Given the description of an element on the screen output the (x, y) to click on. 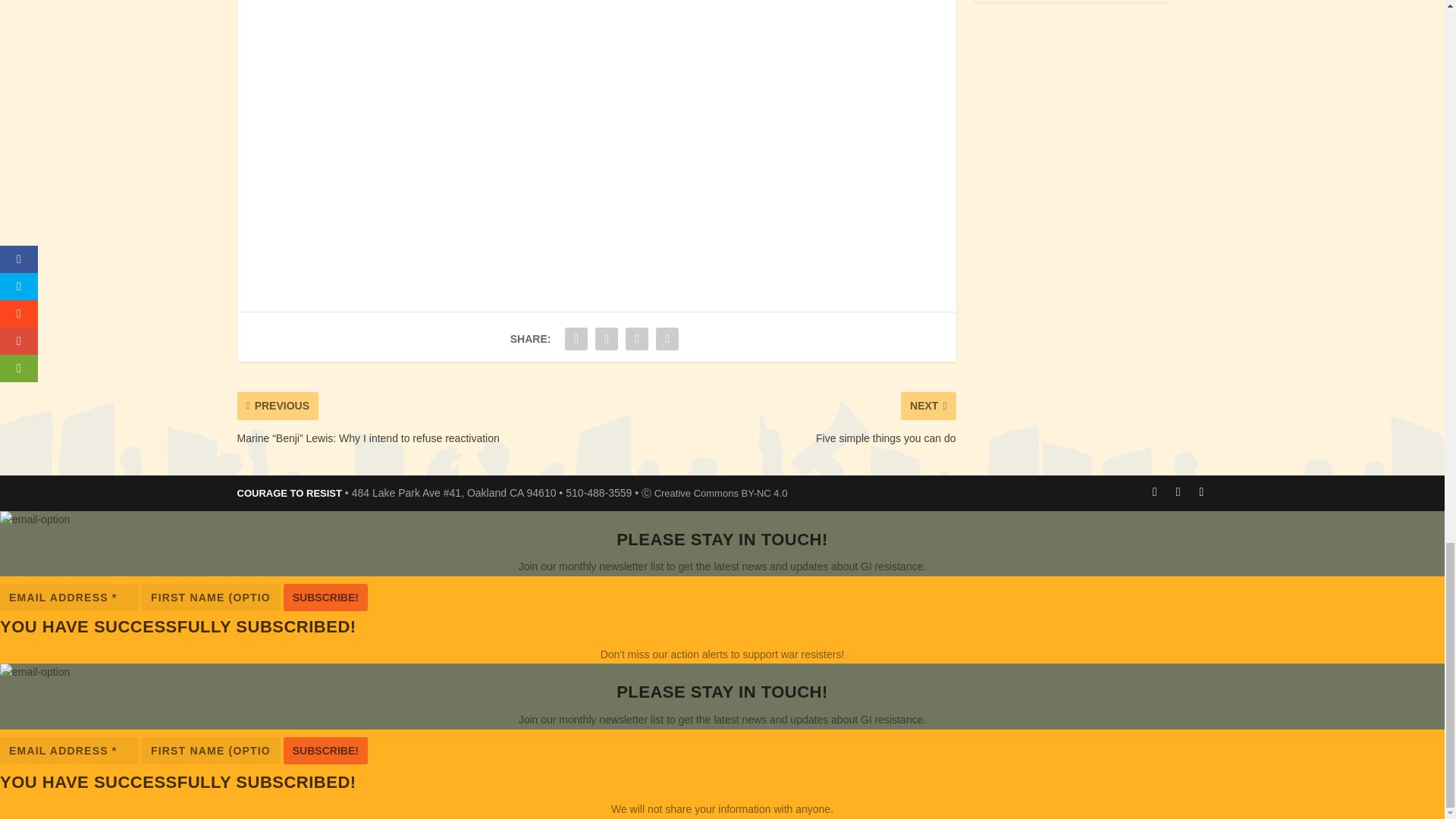
SUBSCRIBE! (325, 749)
SUBSCRIBE! (325, 596)
